Given the description of an element on the screen output the (x, y) to click on. 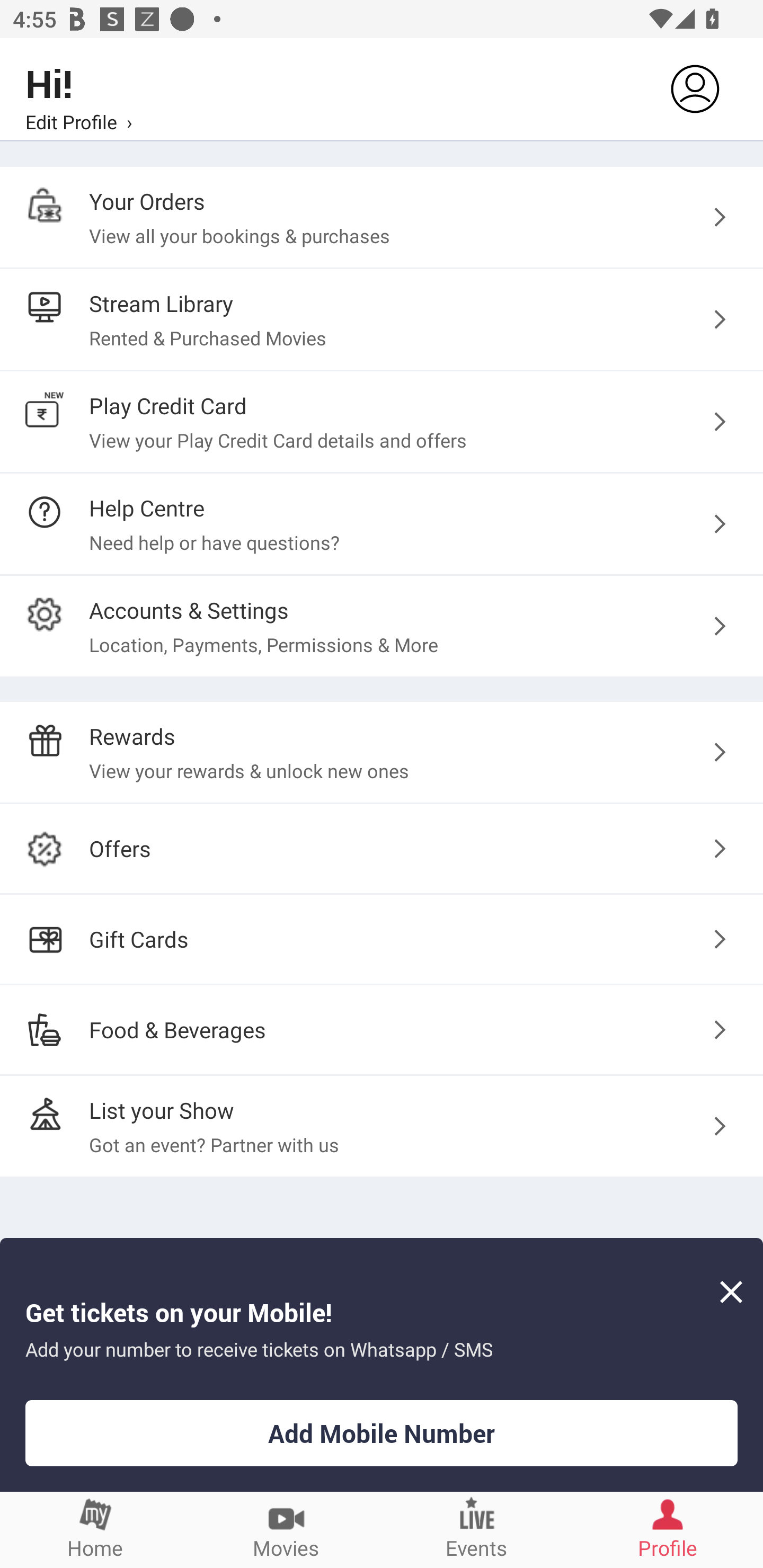
Edit Profile  › (78, 121)
Your Orders View all your bookings & purchases (381, 217)
Stream Library Rented & Purchased Movies (381, 319)
Help Centre Need help or have questions? (381, 523)
Rewards View your rewards & unlock new ones (381, 752)
Offers (381, 848)
Gift Cards (381, 939)
Food & Beverages (381, 1029)
List your Show Got an event? Partner with us (381, 1125)
Add Mobile Number (381, 1432)
Home (95, 1529)
Movies (285, 1529)
Events (476, 1529)
Profile (667, 1529)
